Given the description of an element on the screen output the (x, y) to click on. 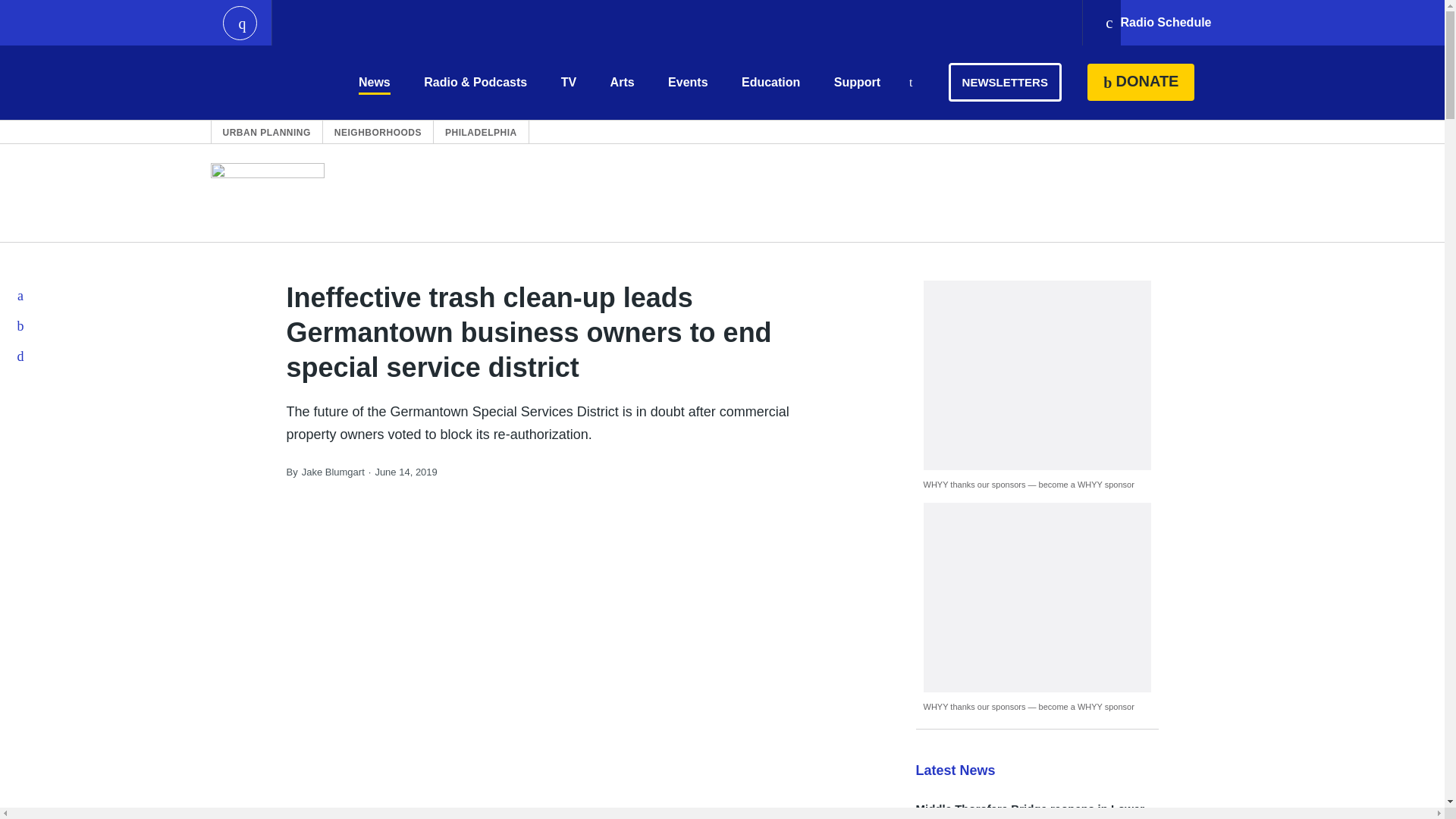
NEIGHBORHOODS (378, 132)
Search (910, 83)
plan-philly-masthead-sm (267, 192)
PHILADELPHIA (480, 132)
WHYY (266, 82)
URBAN PLANNING (266, 132)
Email (21, 356)
Radio Schedule (1157, 22)
Facebook (21, 295)
